Given the description of an element on the screen output the (x, y) to click on. 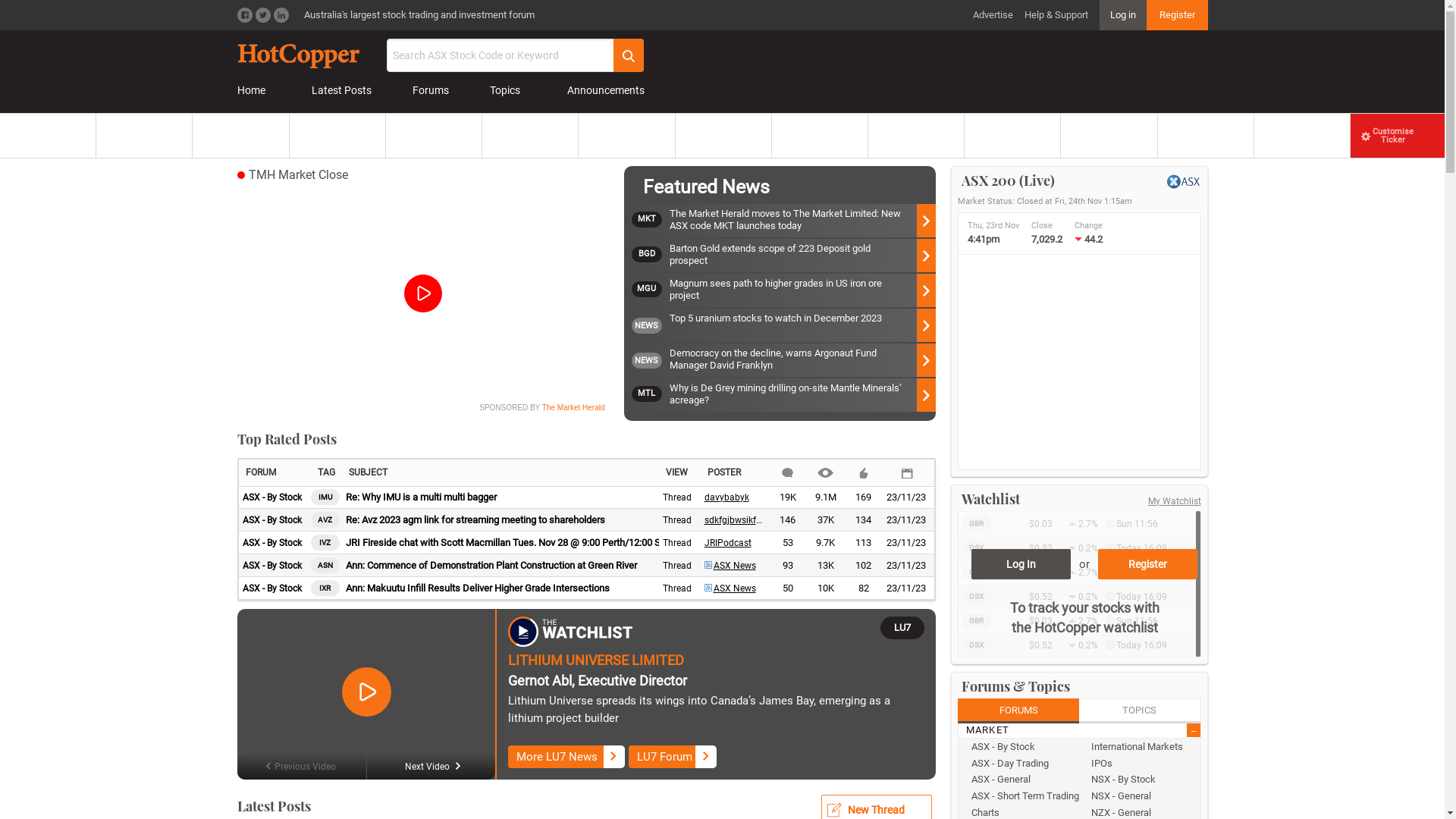
GBR Element type: text (975, 572)
ASX - By Stock Element type: text (271, 542)
Advertise Element type: text (992, 14)
davybabyk Element type: text (725, 497)
sdkfgjbwsikfbjg Element type: text (735, 519)
AVZ Element type: text (324, 519)
GBR Element type: text (975, 620)
IXR Element type: text (324, 588)
ASX - By Stock Element type: text (271, 588)
MKT Element type: text (649, 220)
IMU Element type: text (324, 497)
Thread Element type: text (676, 588)
twitter Created with Sketch. Element type: text (261, 14)
Thread Element type: text (676, 519)
NSX - General Element type: text (1141, 795)
ASN Element type: text (324, 565)
More LU7 News   Element type: text (566, 756)
IVZ Element type: text (324, 542)
ASX - By Stock Element type: text (271, 519)
BGD Element type: text (649, 255)
ASX News Element type: text (729, 588)
ASX - By Stock Element type: text (271, 565)
FORUMS Element type: text (1018, 710)
DSX Element type: text (975, 547)
Barton Gold extends scope of 223 Deposit gold prospect Element type: text (801, 255)
Re: Avz 2023 agm link for streaming meeting to shareholders Element type: text (500, 519)
ASX - General Element type: text (1021, 779)
Forums Element type: text (433, 90)
DSX Element type: text (975, 596)
TOPICS Element type: text (1140, 710)
Latest Posts Element type: text (341, 90)
Announcements Element type: text (602, 90)
Topics Element type: text (507, 90)
Magnum sees path to higher grades in US iron ore project Element type: text (801, 290)
Home Element type: text (253, 90)
Register Element type: text (1177, 15)
Thread Element type: text (676, 497)
ASX - By Stock Element type: text (271, 497)
JRIPodcast Element type: text (726, 542)
ASX News Element type: text (729, 565)
LU7 Forum  Element type: text (673, 756)
ASX - Day Trading Element type: text (1021, 763)
Register Element type: text (1147, 564)
IPOs Element type: text (1141, 763)
NSX - By Stock Element type: text (1141, 779)
MGU Element type: text (649, 290)
Thread Element type: text (676, 542)
DSX Element type: text (975, 644)
ASX - By Stock Element type: text (1021, 746)
The Market Herald Element type: text (573, 407)
search Created with Sketch. Element type: text (627, 55)
TMH Market Close Element type: text (298, 174)
International Markets Element type: text (1141, 746)
GBR Element type: text (975, 523)
Log in Element type: text (1122, 15)
Help & Support Element type: text (1055, 14)
linkedin Created with Sketch. Element type: text (280, 14)
facebook Created with Sketch. Element type: text (243, 14)
ASX - Short Term Trading Element type: text (1021, 795)
Log In Element type: text (1020, 564)
Top 5 uranium stocks to watch in December 2023 Element type: text (801, 325)
My Watchlist Element type: text (1174, 501)
Thread Element type: text (676, 565)
Re: Why IMU is a multi multi bagger Element type: text (500, 497)
MTL Element type: text (649, 394)
